Given the description of an element on the screen output the (x, y) to click on. 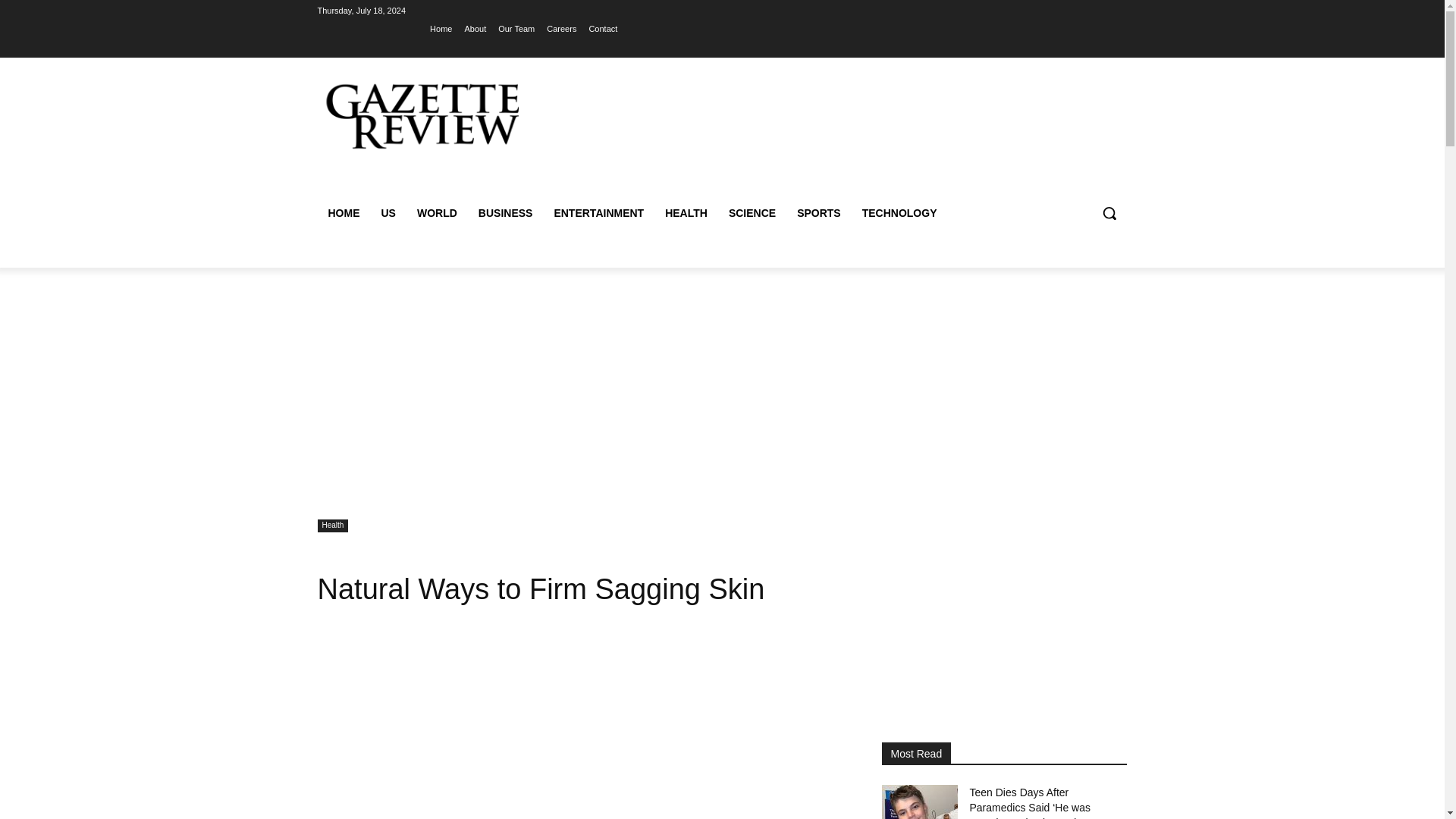
HEALTH (685, 212)
SCIENCE (751, 212)
Health (332, 525)
WORLD (436, 212)
ENTERTAINMENT (598, 212)
Contact (602, 28)
US (387, 212)
Advertisement (580, 730)
Home (440, 28)
BUSINESS (505, 212)
About (475, 28)
SPORTS (818, 212)
Our Team (515, 28)
HOME (343, 212)
